Given the description of an element on the screen output the (x, y) to click on. 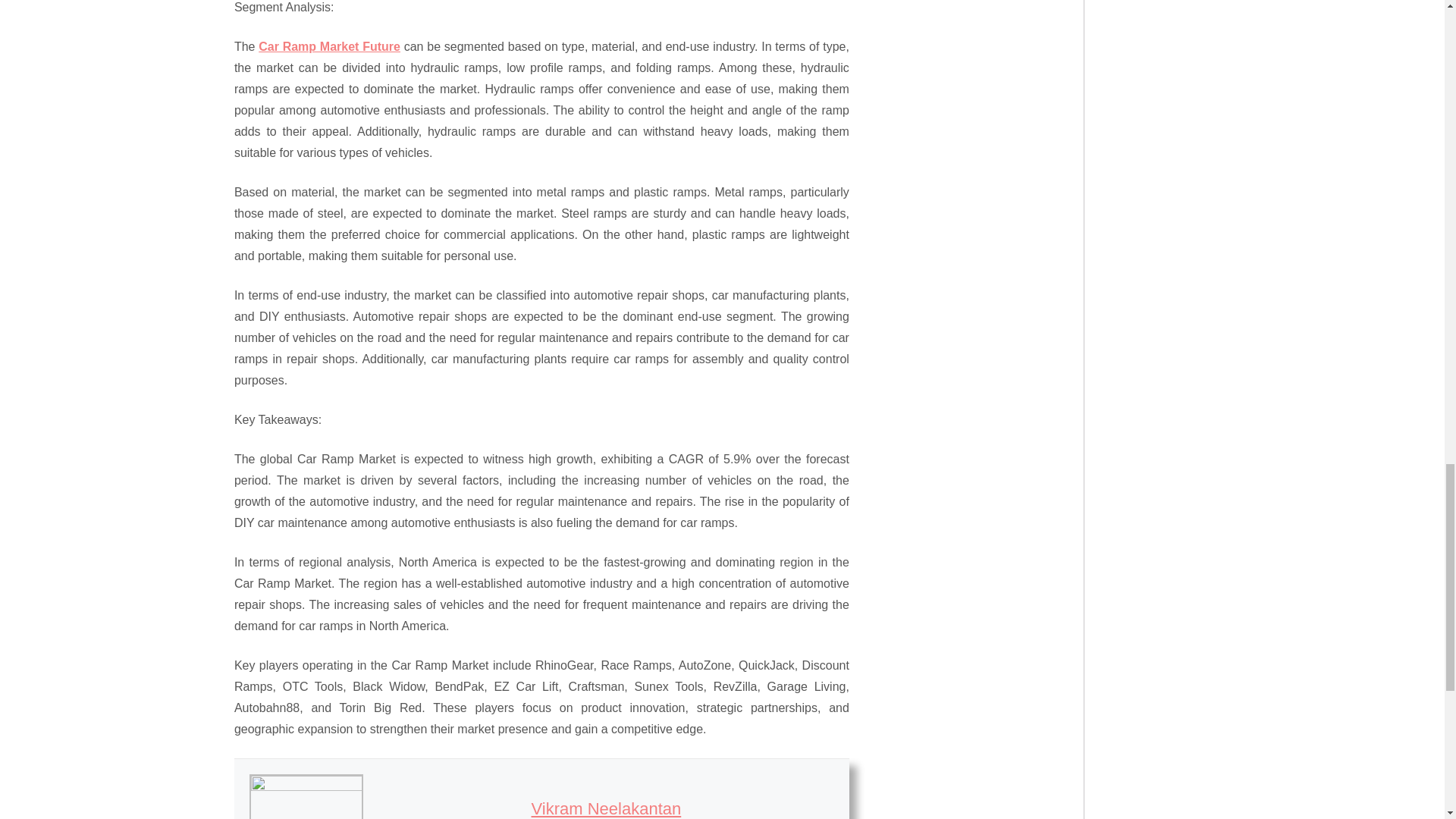
Car Ramp Market Future (329, 46)
Vikram Neelakantan (606, 808)
